Given the description of an element on the screen output the (x, y) to click on. 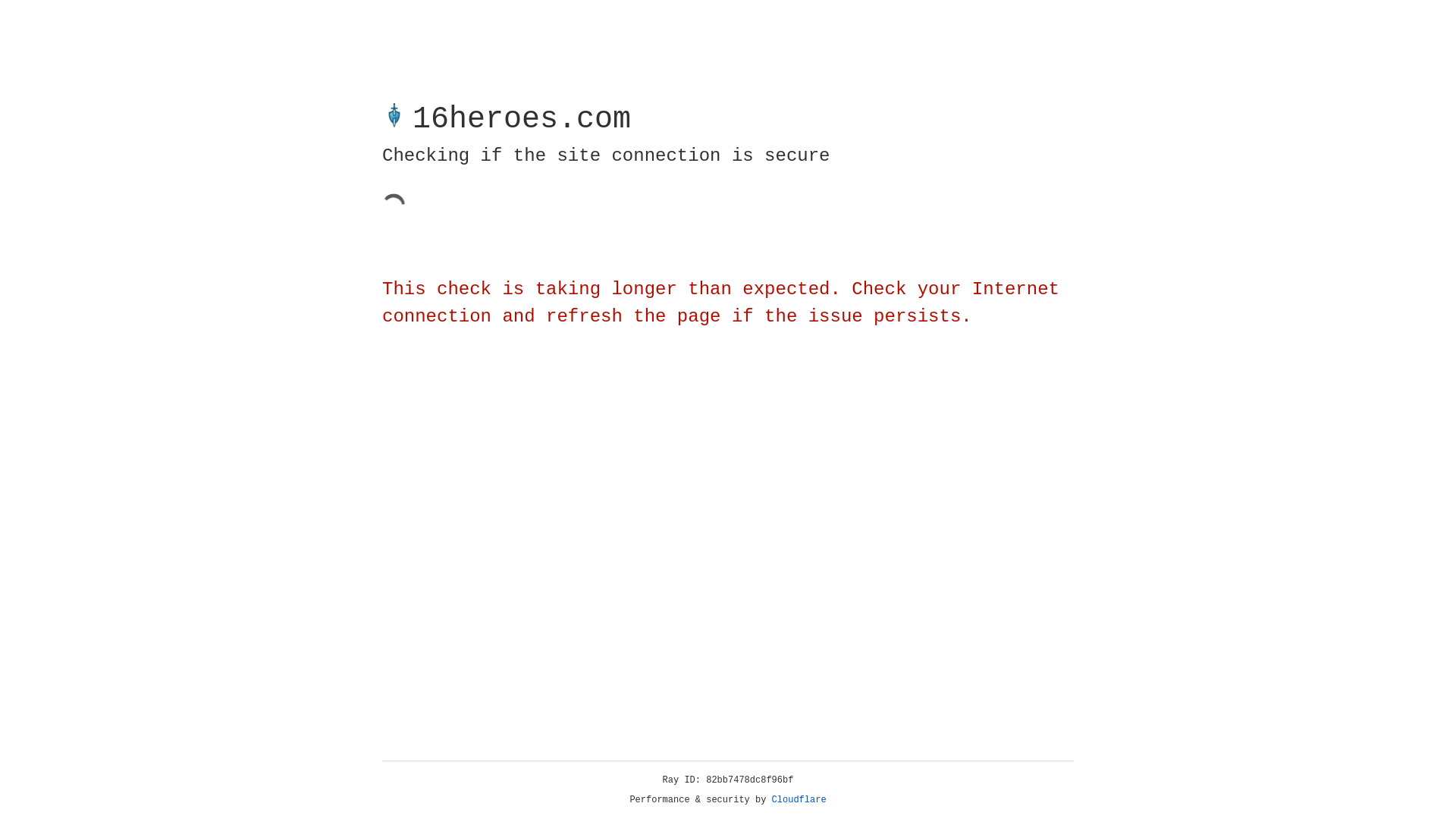
Cloudflare Element type: text (798, 799)
